Given the description of an element on the screen output the (x, y) to click on. 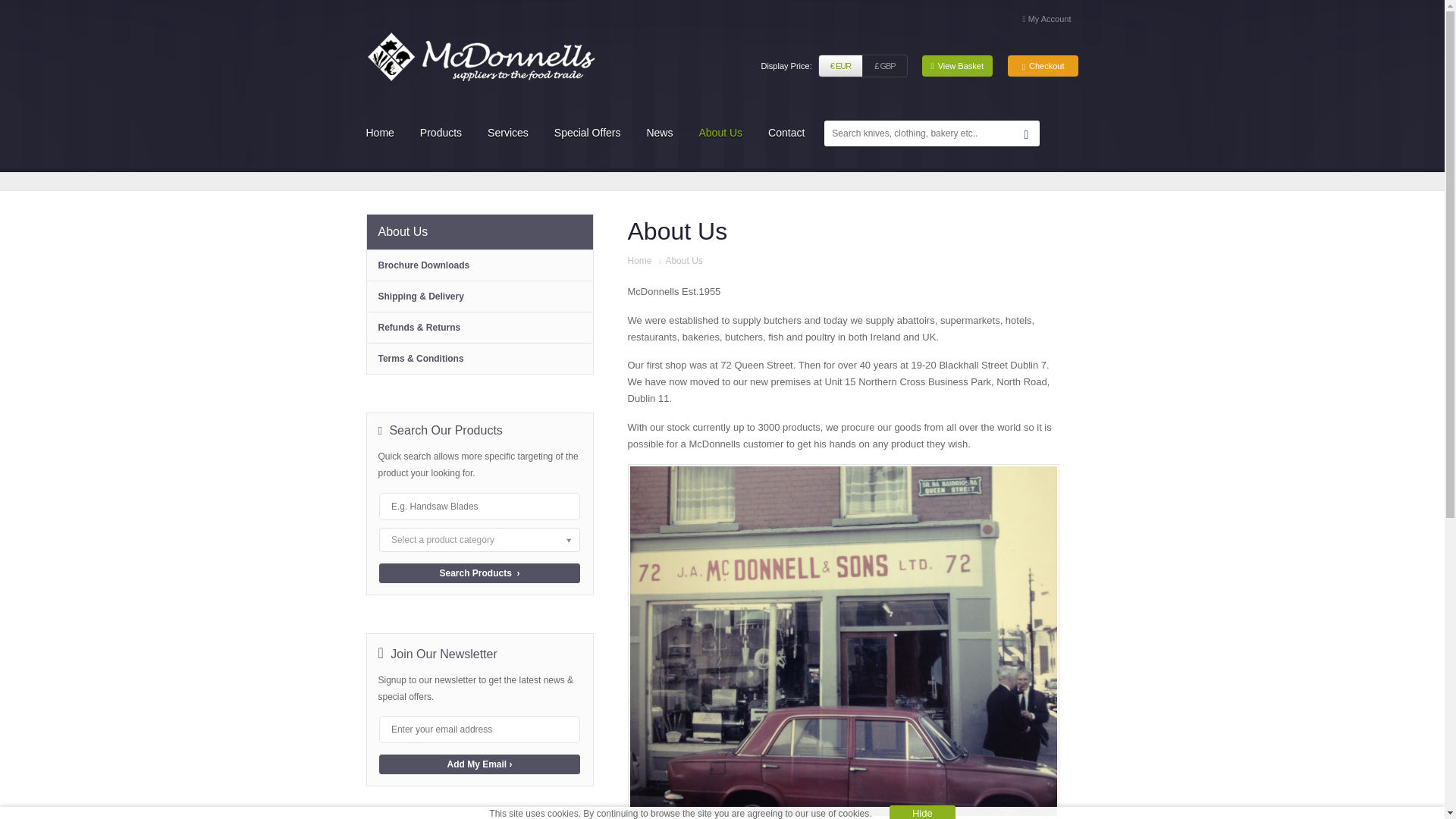
Hide (922, 812)
Services (513, 132)
Contact (791, 132)
Home (385, 132)
Proceed To Checkout (1042, 65)
Checkout (1042, 65)
About Us (725, 132)
Products (446, 132)
Brochure Downloads (479, 264)
Select a product category (478, 539)
Home (639, 260)
News (664, 132)
My Account (1047, 18)
Special Offers (593, 132)
Go To Homepage (478, 56)
